Given the description of an element on the screen output the (x, y) to click on. 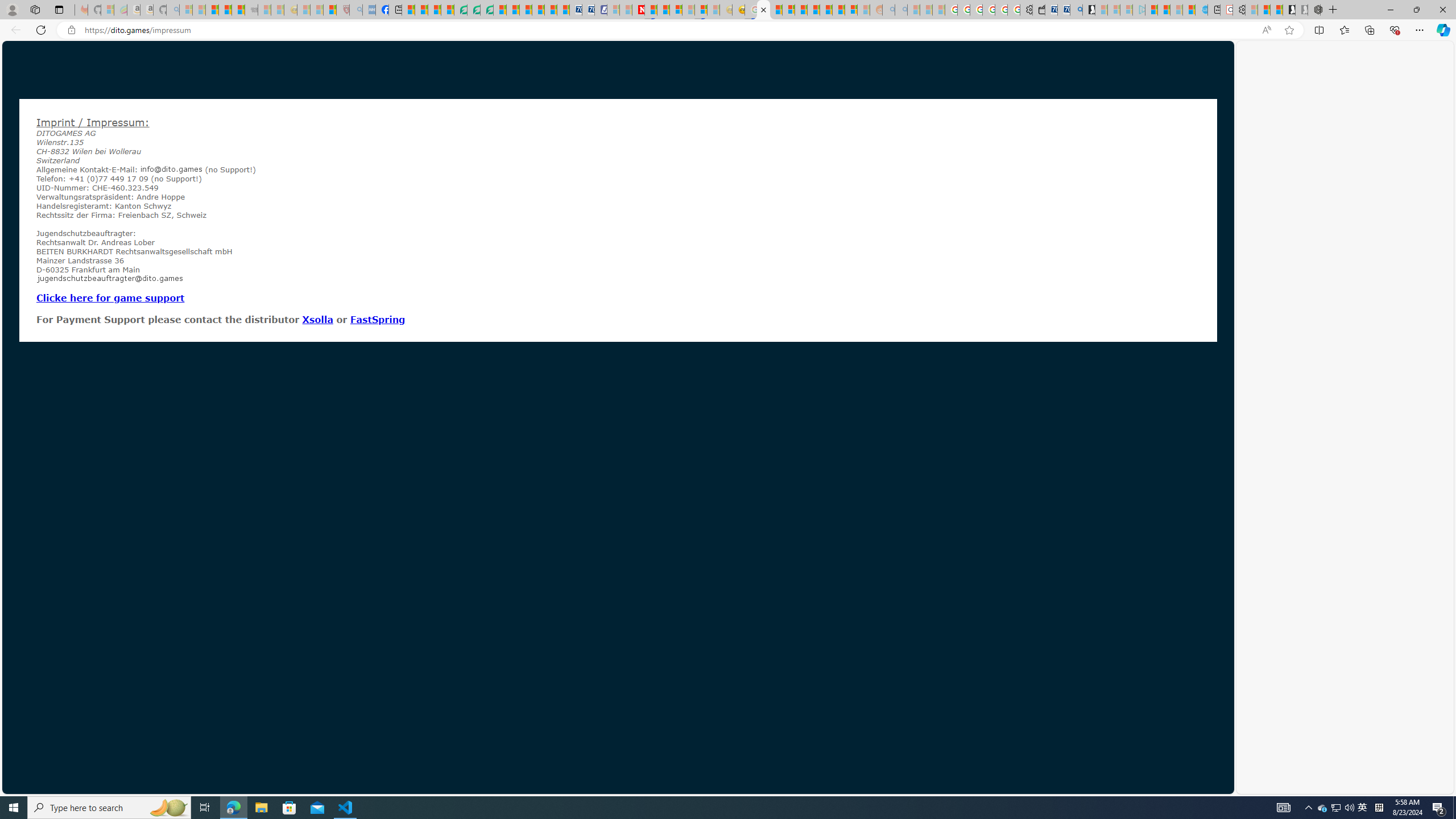
Xsolla (317, 319)
Microsoft Word - consumer-privacy address update 2.2021 (486, 9)
Terms of Use Agreement (473, 9)
